Given the description of an element on the screen output the (x, y) to click on. 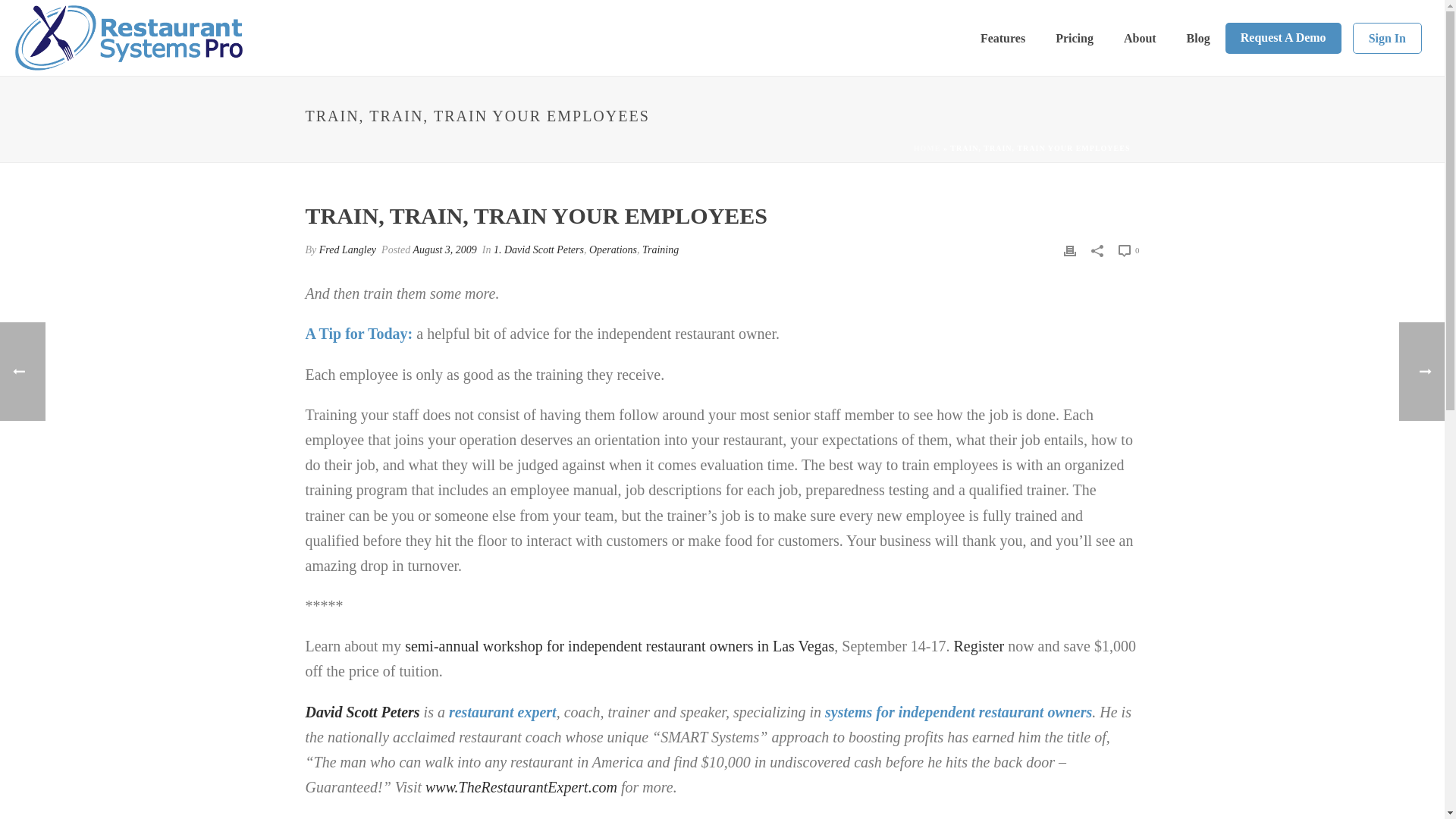
Training (660, 249)
Blog (1198, 38)
Features (1003, 38)
August 3, 2009 (444, 249)
Request A Demo (1282, 38)
Request A Demo (1282, 38)
Sign In (1387, 38)
Pricing (1074, 38)
1. David Scott Peters (538, 249)
